Given the description of an element on the screen output the (x, y) to click on. 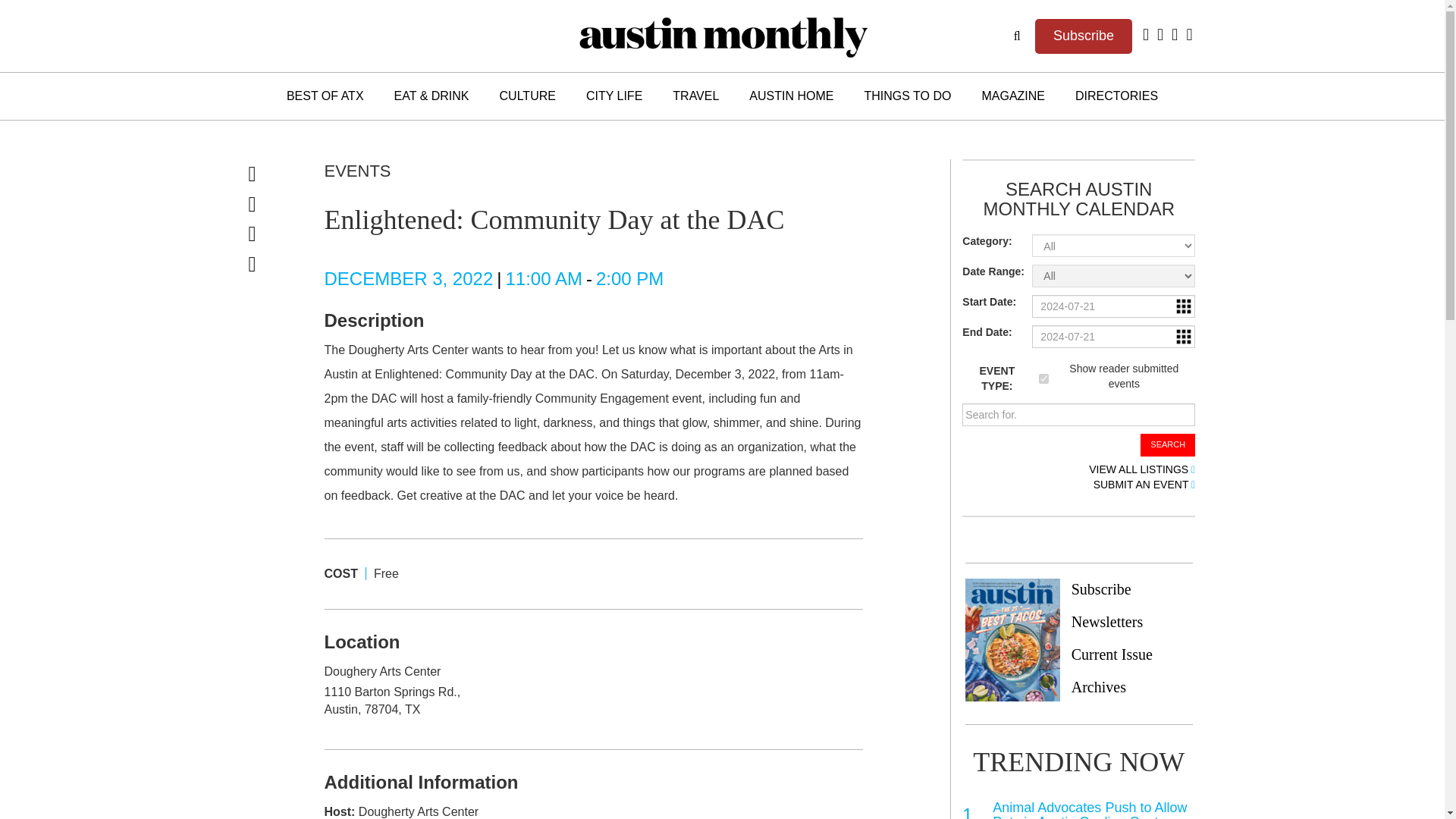
MAGAZINE (1012, 95)
DIRECTORIES (1116, 95)
TRAVEL (695, 95)
Austin Monthly Magazine (721, 35)
THINGS TO DO (907, 95)
CITY LIFE (614, 95)
CULTURE (527, 95)
SEARCH (1167, 445)
on (1043, 378)
VIEW ALL LISTINGS (1142, 469)
AUSTIN HOME (790, 95)
BEST OF ATX (324, 95)
